Given the description of an element on the screen output the (x, y) to click on. 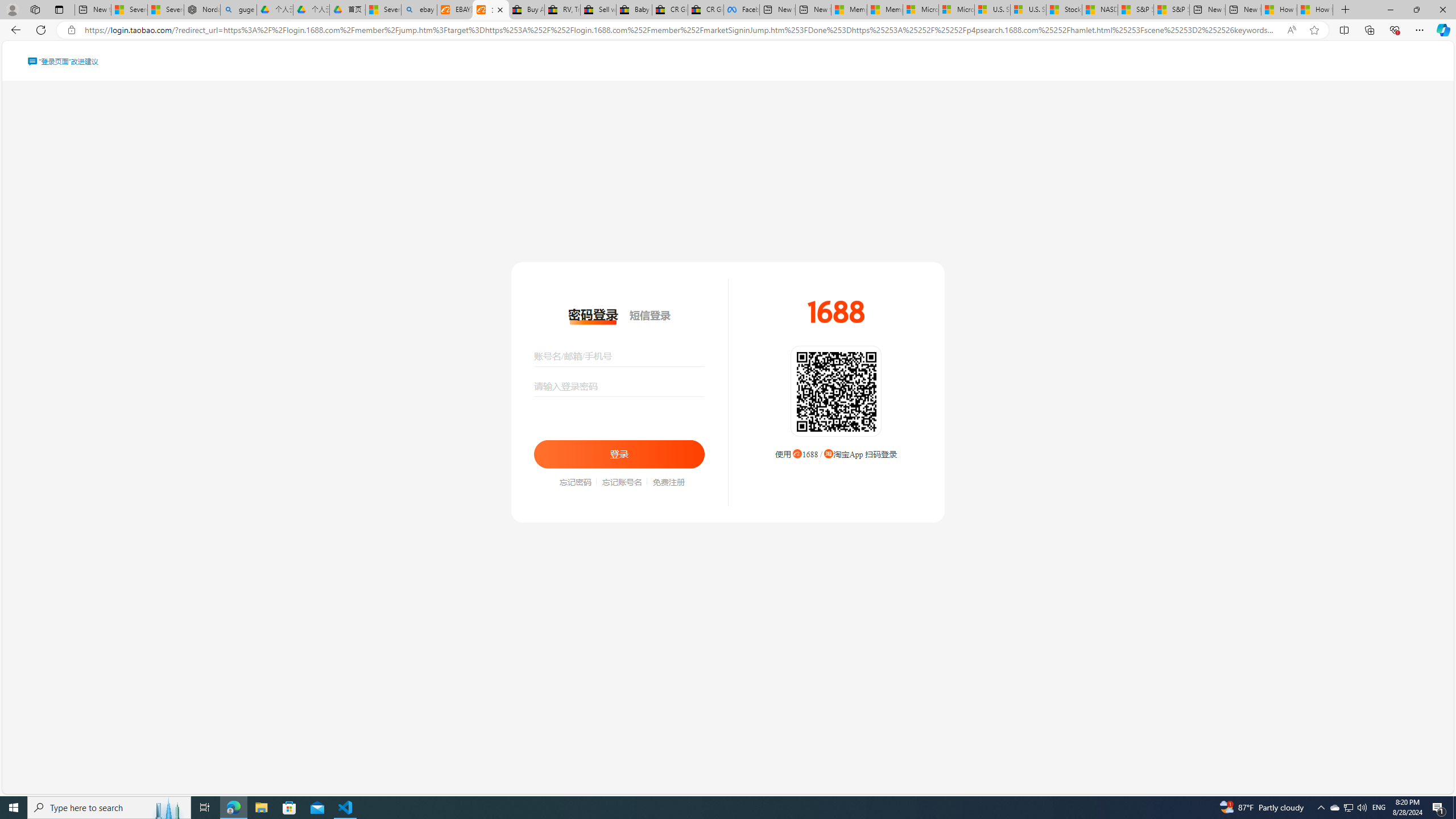
Facebook (741, 9)
Baby Keepsakes & Announcements for sale | eBay (633, 9)
Read aloud this page (Ctrl+Shift+U) (1291, 29)
